Given the description of an element on the screen output the (x, y) to click on. 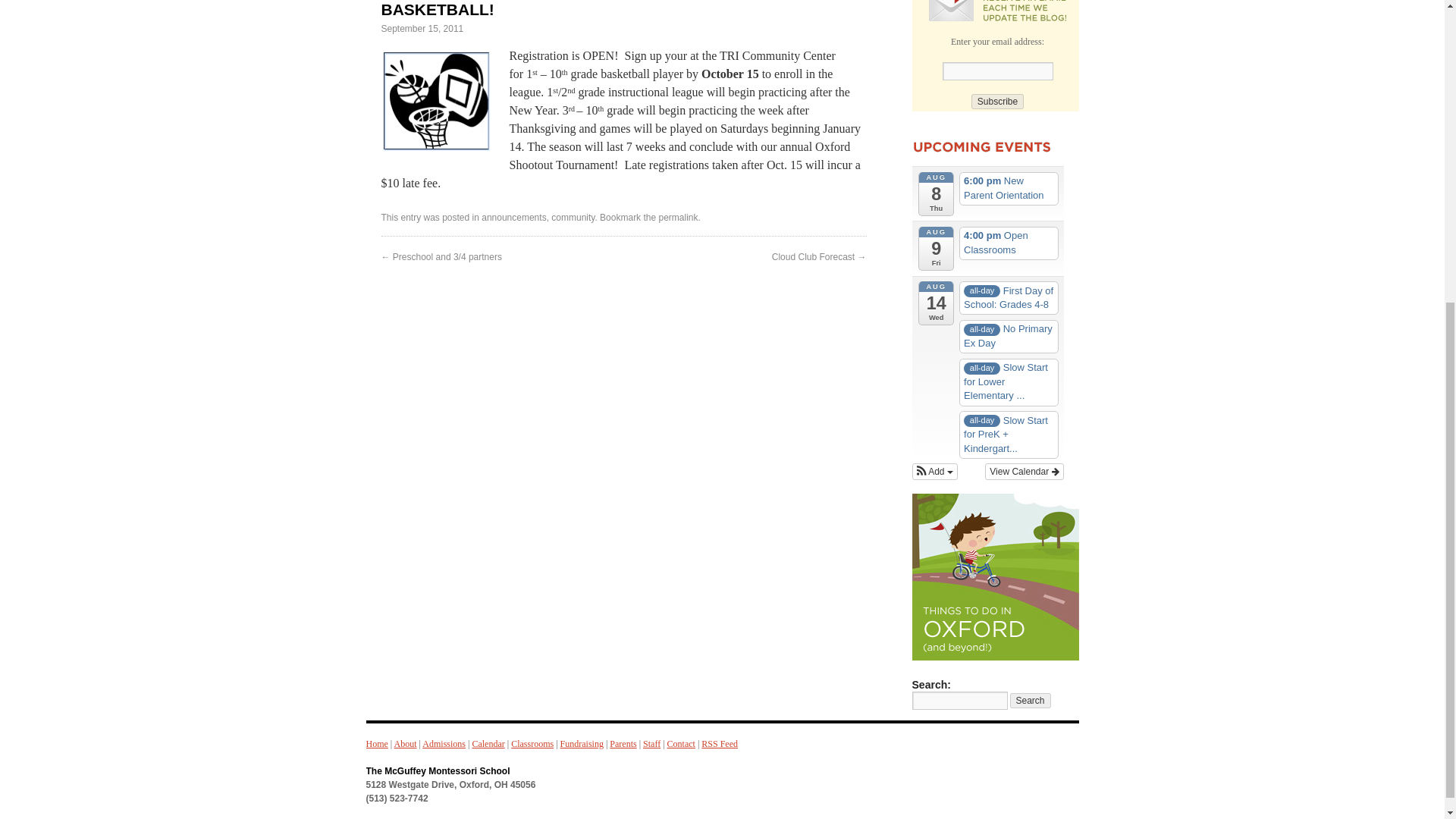
The McGuffey Montessori School (437, 770)
Permalink to Basketball! (677, 217)
Search (1030, 700)
7:09 pm (421, 28)
Subscribe (997, 101)
